Given the description of an element on the screen output the (x, y) to click on. 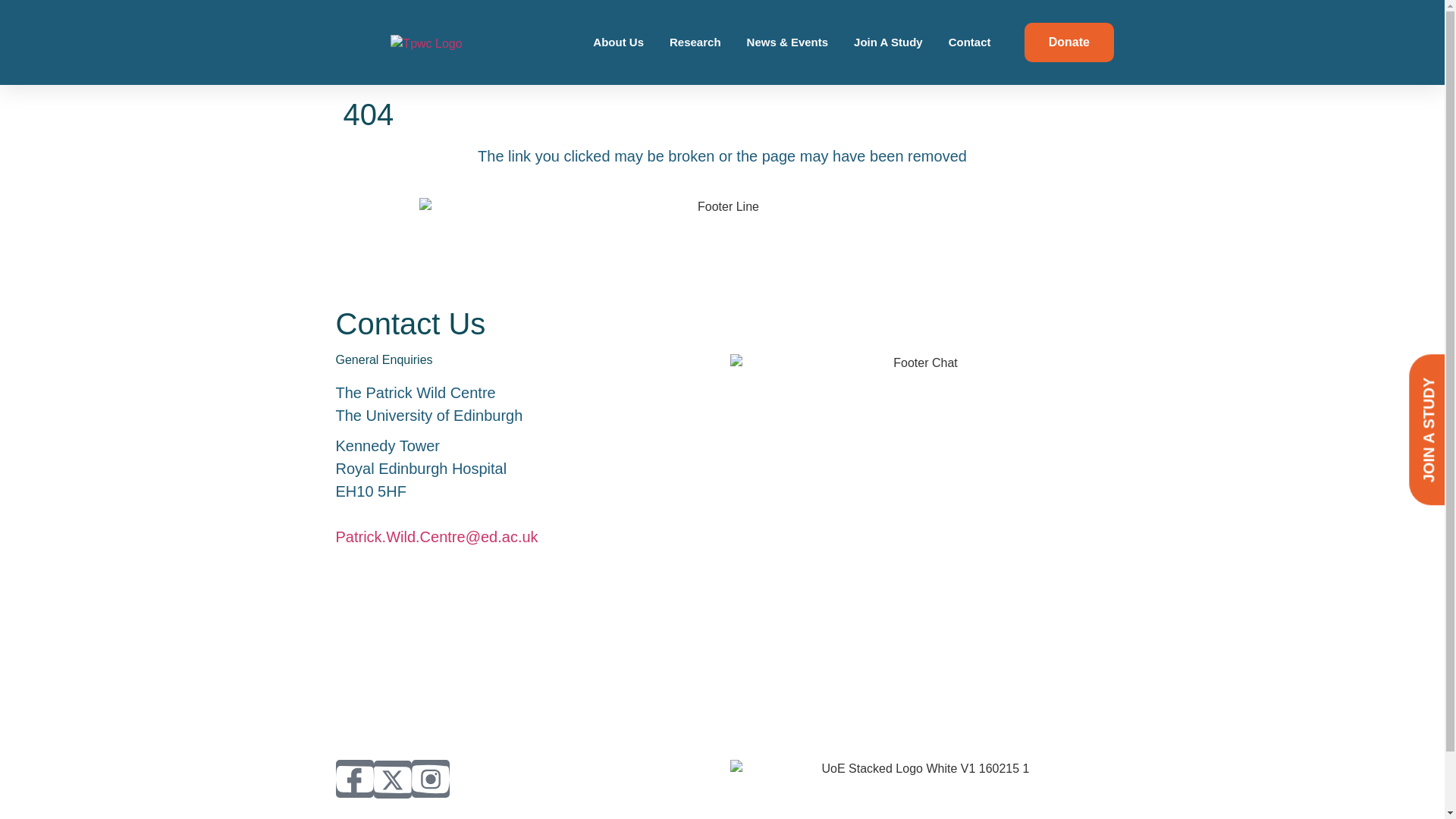
Research (695, 42)
Join A Study (887, 42)
Contact (969, 42)
Donate (1069, 42)
About Us (617, 42)
